Given the description of an element on the screen output the (x, y) to click on. 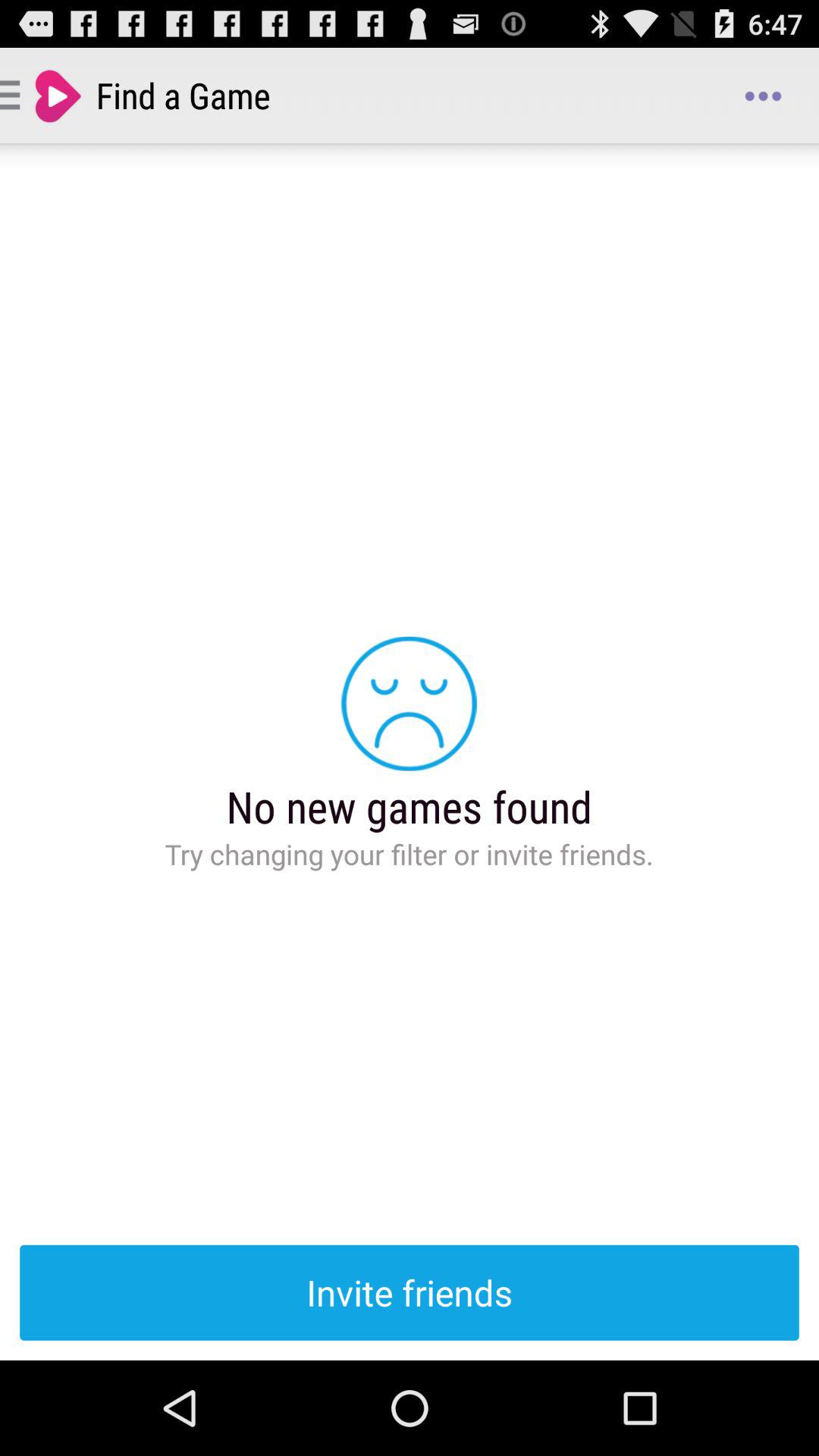
open icon at the top right corner (763, 95)
